Given the description of an element on the screen output the (x, y) to click on. 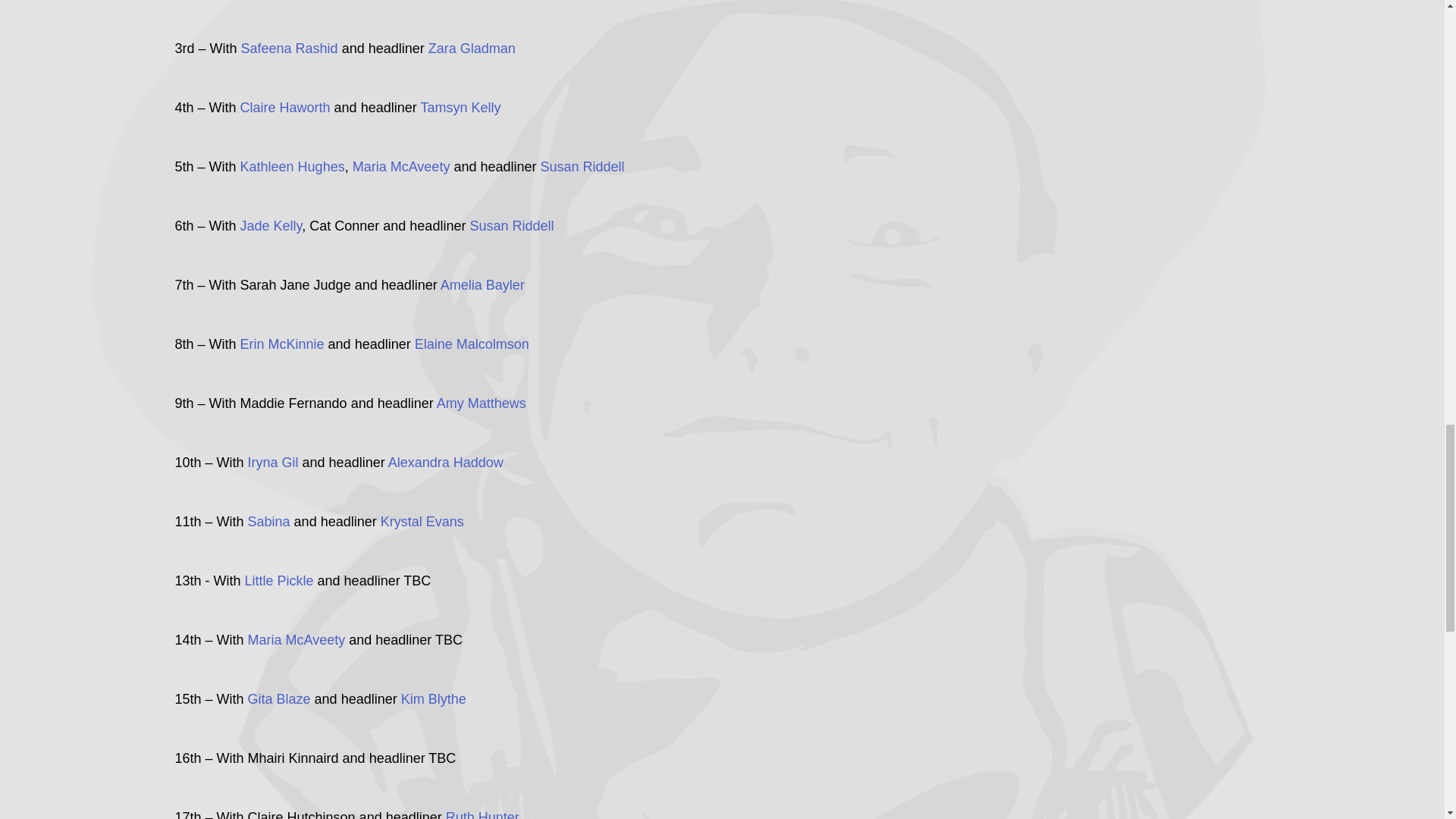
Zara Gladman (471, 48)
Safeena Rashid (289, 48)
Susan Riddell (510, 225)
Tamsyn Kelly (460, 107)
Claire Haworth (285, 107)
Kathleen Hughes (292, 166)
Maria McAveety (400, 166)
Erin McKinnie (282, 344)
Elaine Malcolmson  (473, 344)
Amelia Bayler (482, 284)
Jade Kelly (271, 225)
Susan Riddell (582, 166)
